Given the description of an element on the screen output the (x, y) to click on. 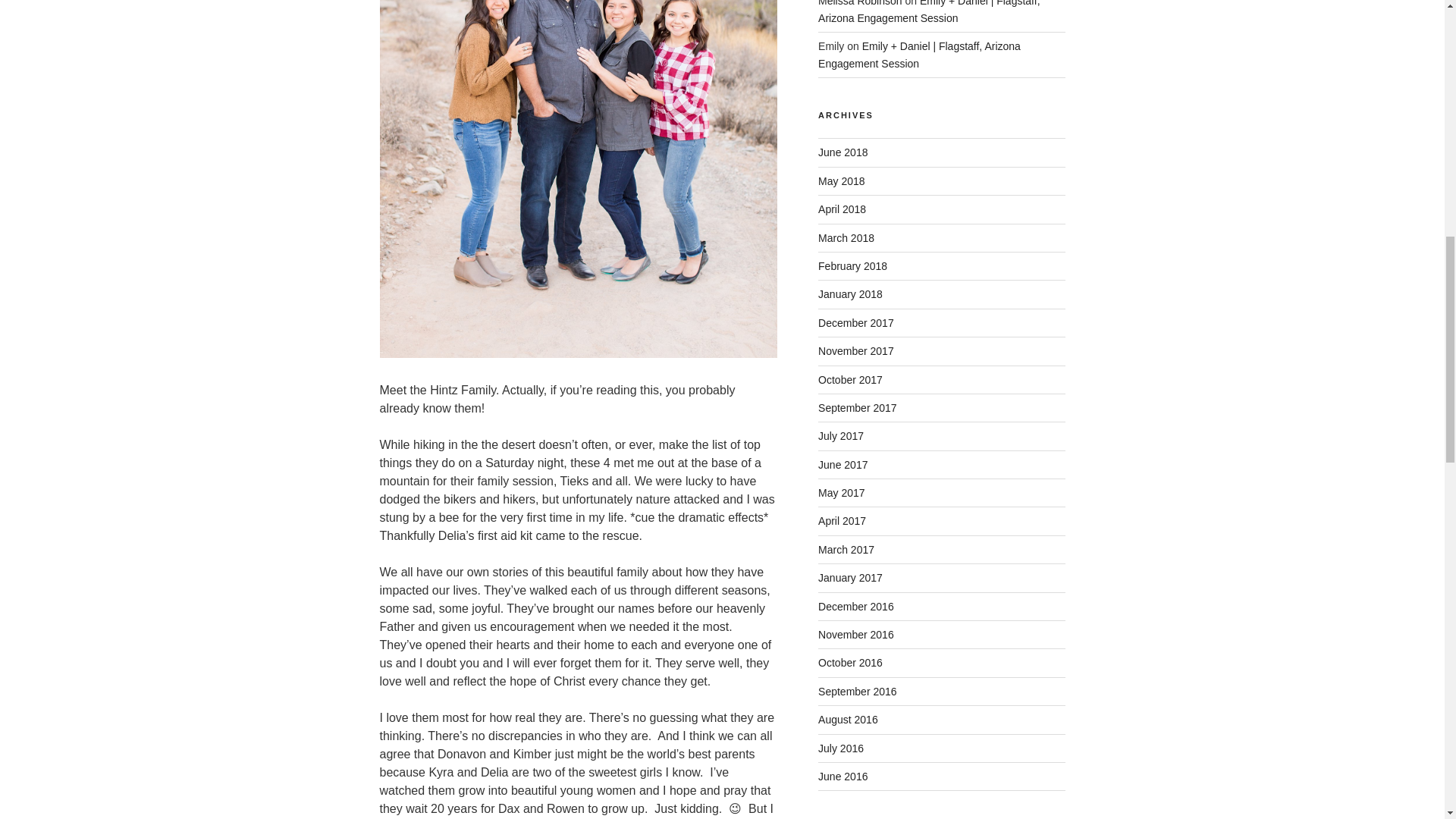
December 2017 (855, 322)
October 2017 (850, 378)
January 2017 (850, 577)
July 2017 (840, 435)
December 2016 (855, 606)
April 2017 (842, 521)
August 2016 (847, 719)
November 2017 (855, 350)
September 2016 (857, 691)
February 2018 (852, 265)
May 2018 (841, 181)
May 2017 (841, 492)
Melissa Robinson (860, 3)
July 2016 (840, 748)
October 2016 (850, 662)
